Given the description of an element on the screen output the (x, y) to click on. 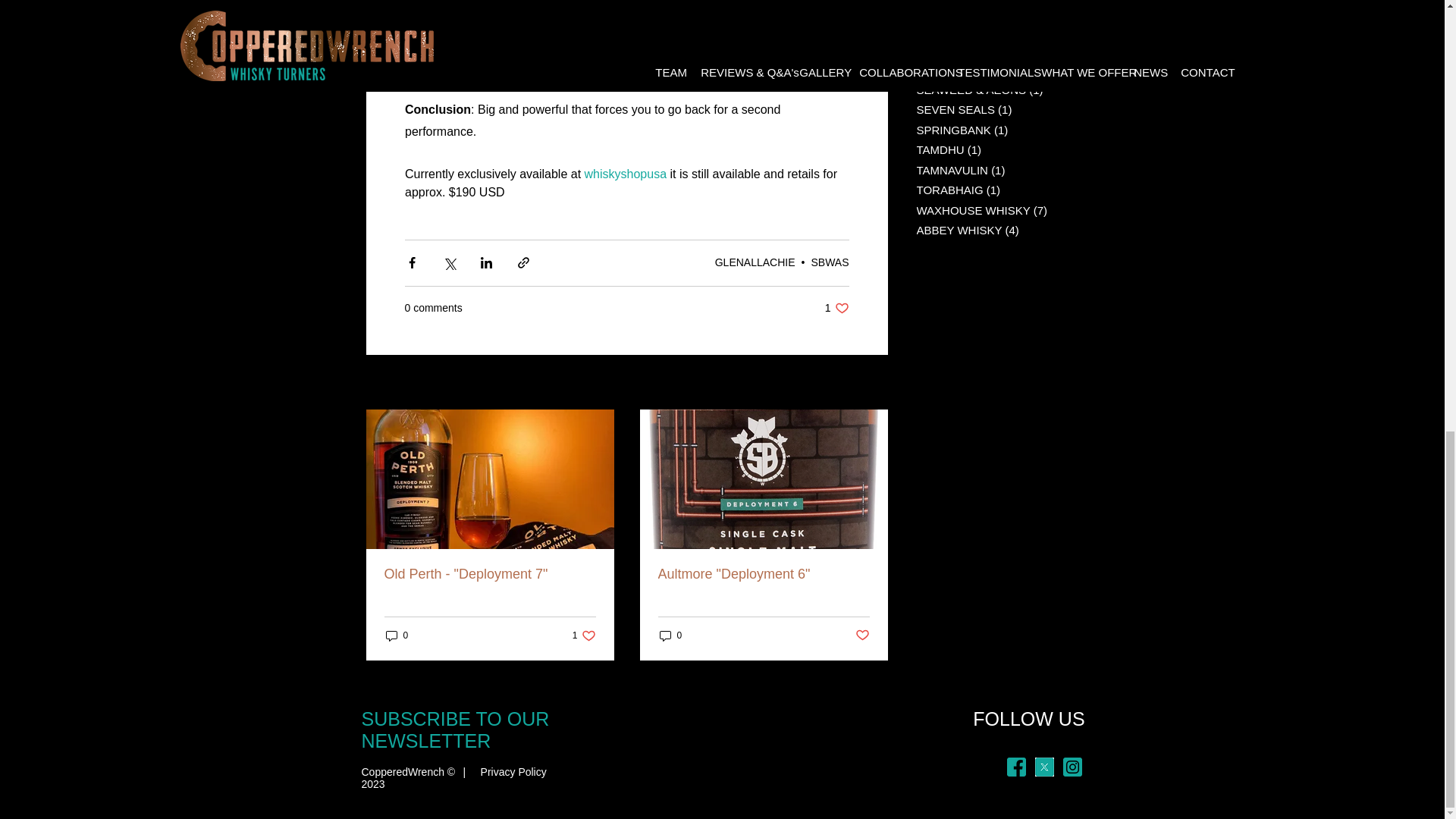
Aultmore "Deployment 6" (763, 574)
0 (671, 635)
See All (871, 382)
Post not marked as liked (862, 635)
SBWAS (583, 635)
GLENALLACHIE (836, 308)
0 (829, 262)
whiskyshopusa  (754, 262)
